Given the description of an element on the screen output the (x, y) to click on. 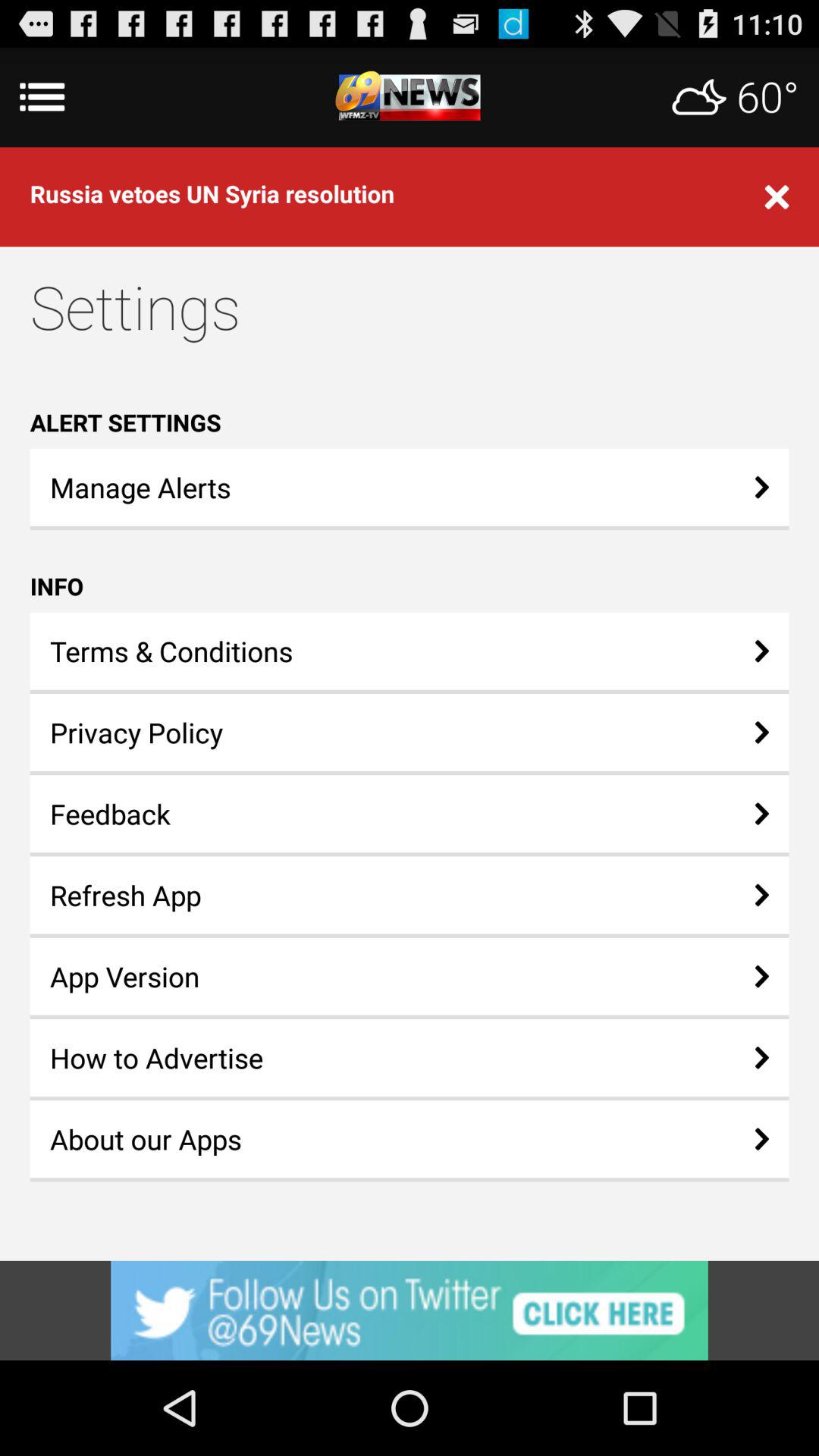
twitter hyperlink (409, 1310)
